Given the description of an element on the screen output the (x, y) to click on. 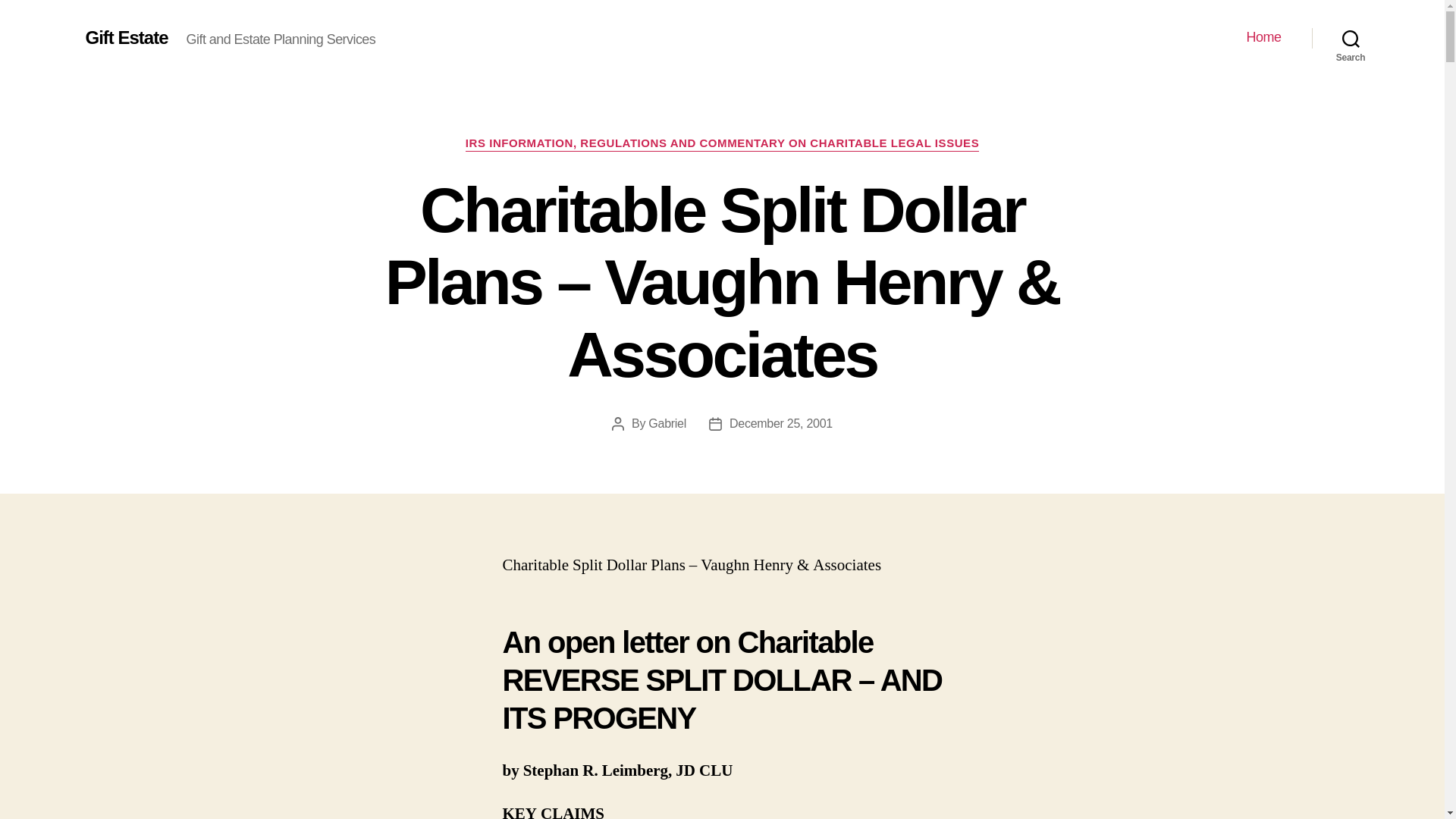
Gift Estate (125, 37)
Gabriel (666, 422)
December 25, 2001 (780, 422)
Search (1350, 37)
Home (1263, 37)
